Given the description of an element on the screen output the (x, y) to click on. 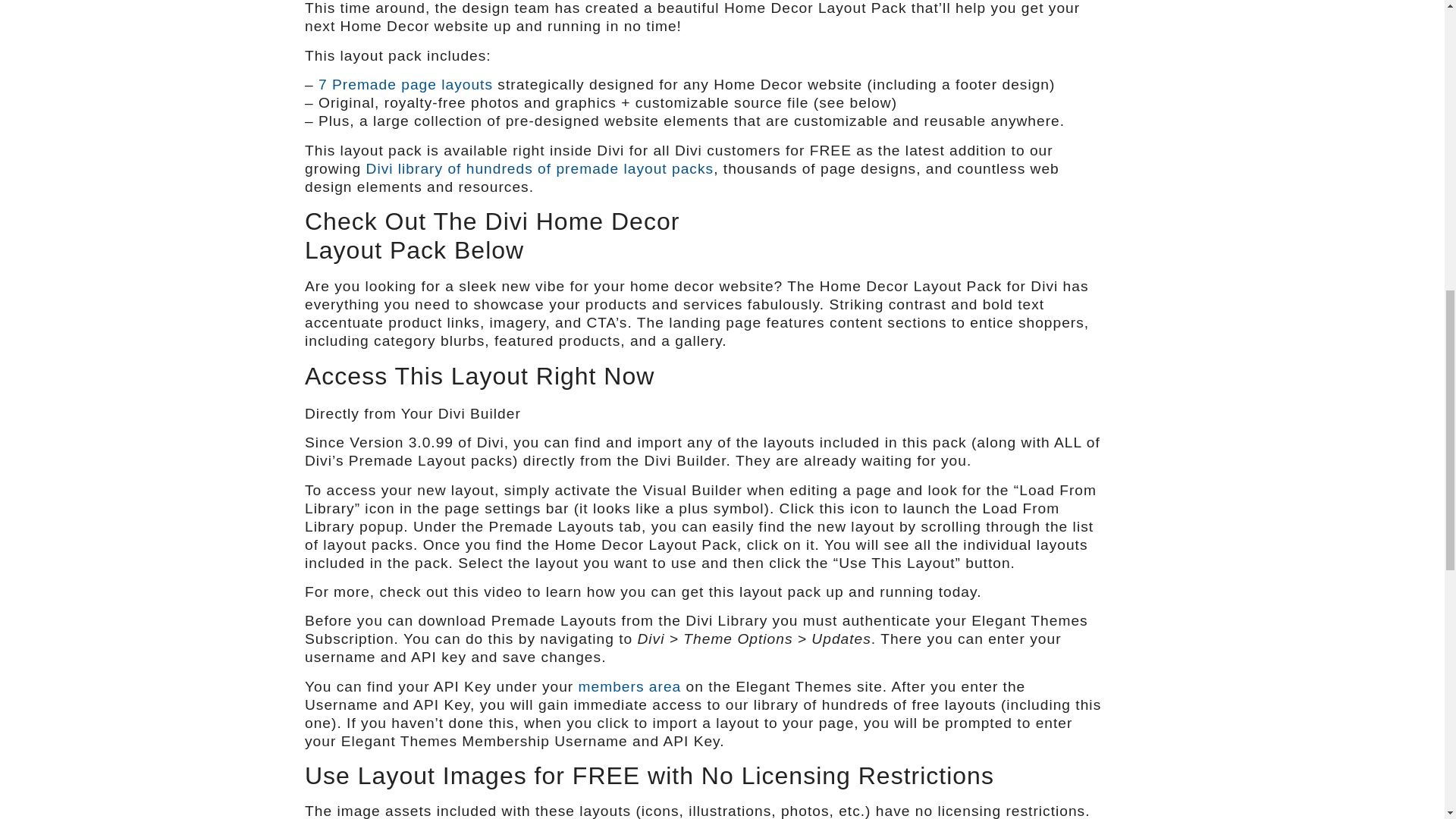
Divi library of hundreds of premade layout packs (540, 168)
members area (629, 686)
7 Premade page layouts (405, 84)
